Given the description of an element on the screen output the (x, y) to click on. 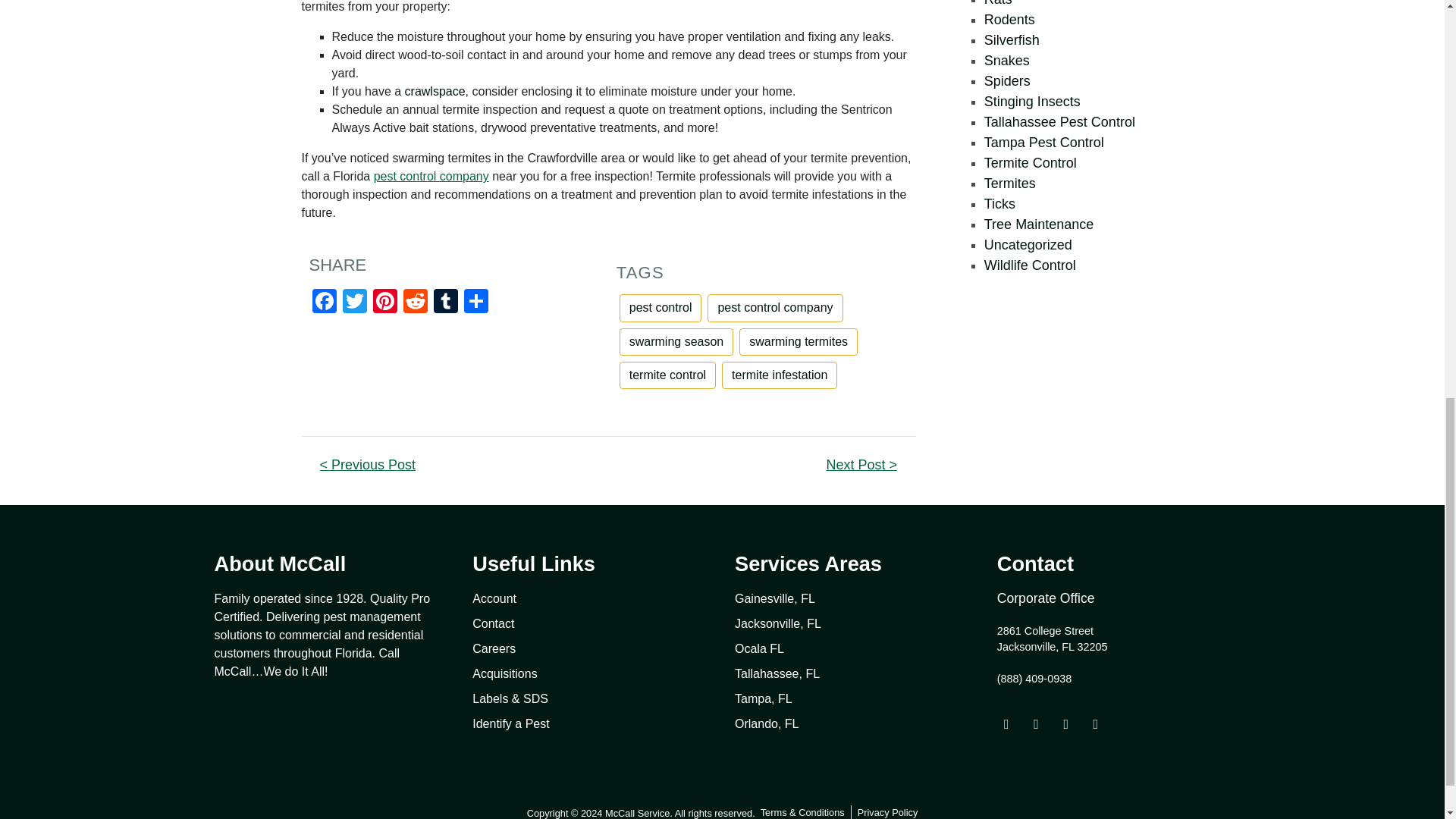
Pinterest (384, 302)
Tumblr (445, 302)
Twitter (354, 302)
Facebook (323, 302)
Reddit (415, 302)
